Given the description of an element on the screen output the (x, y) to click on. 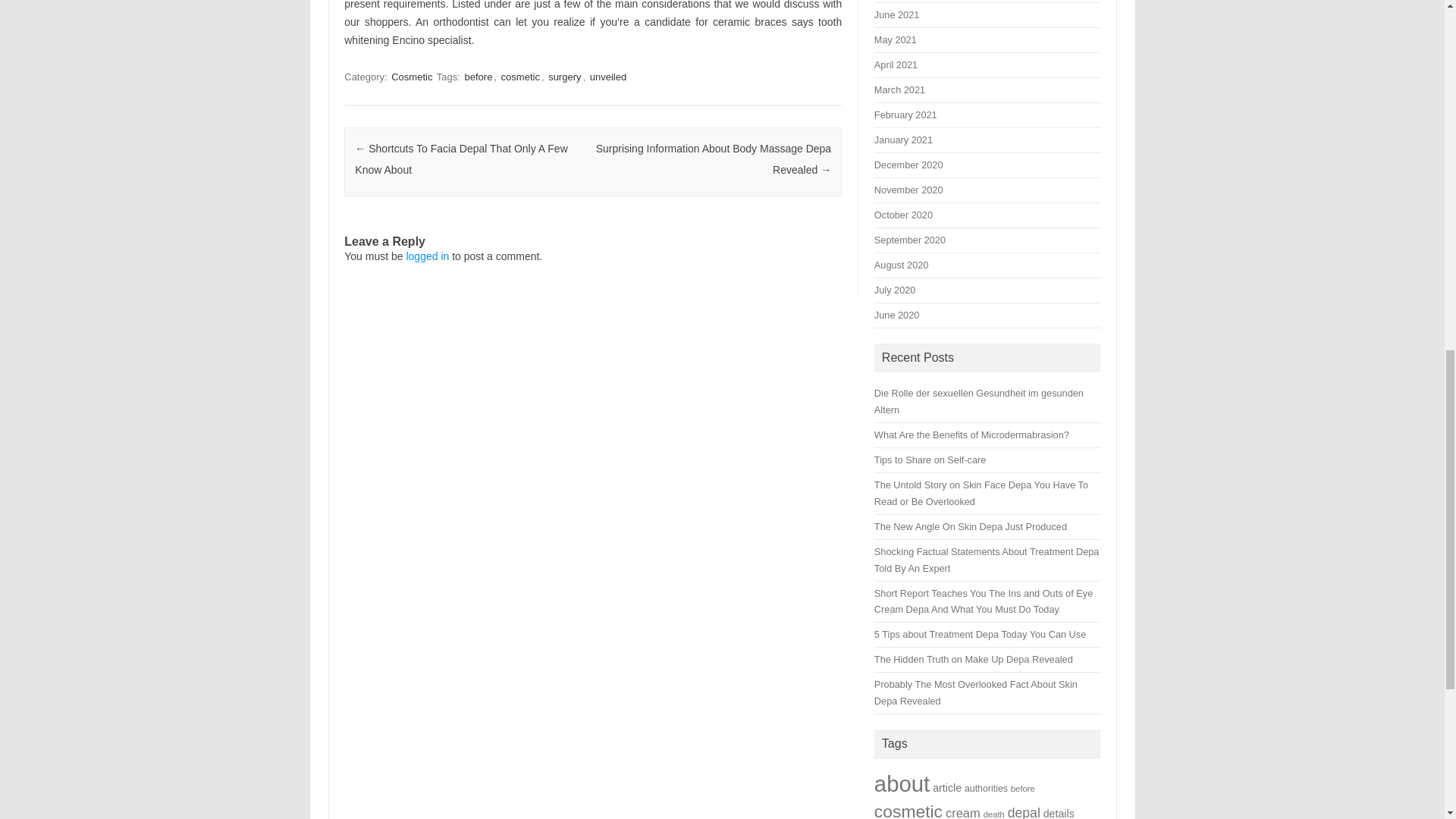
surgery (564, 76)
June 2021 (896, 14)
cosmetic (520, 76)
logged in (427, 256)
Cosmetic (411, 76)
unveiled (607, 76)
before (478, 76)
